Given the description of an element on the screen output the (x, y) to click on. 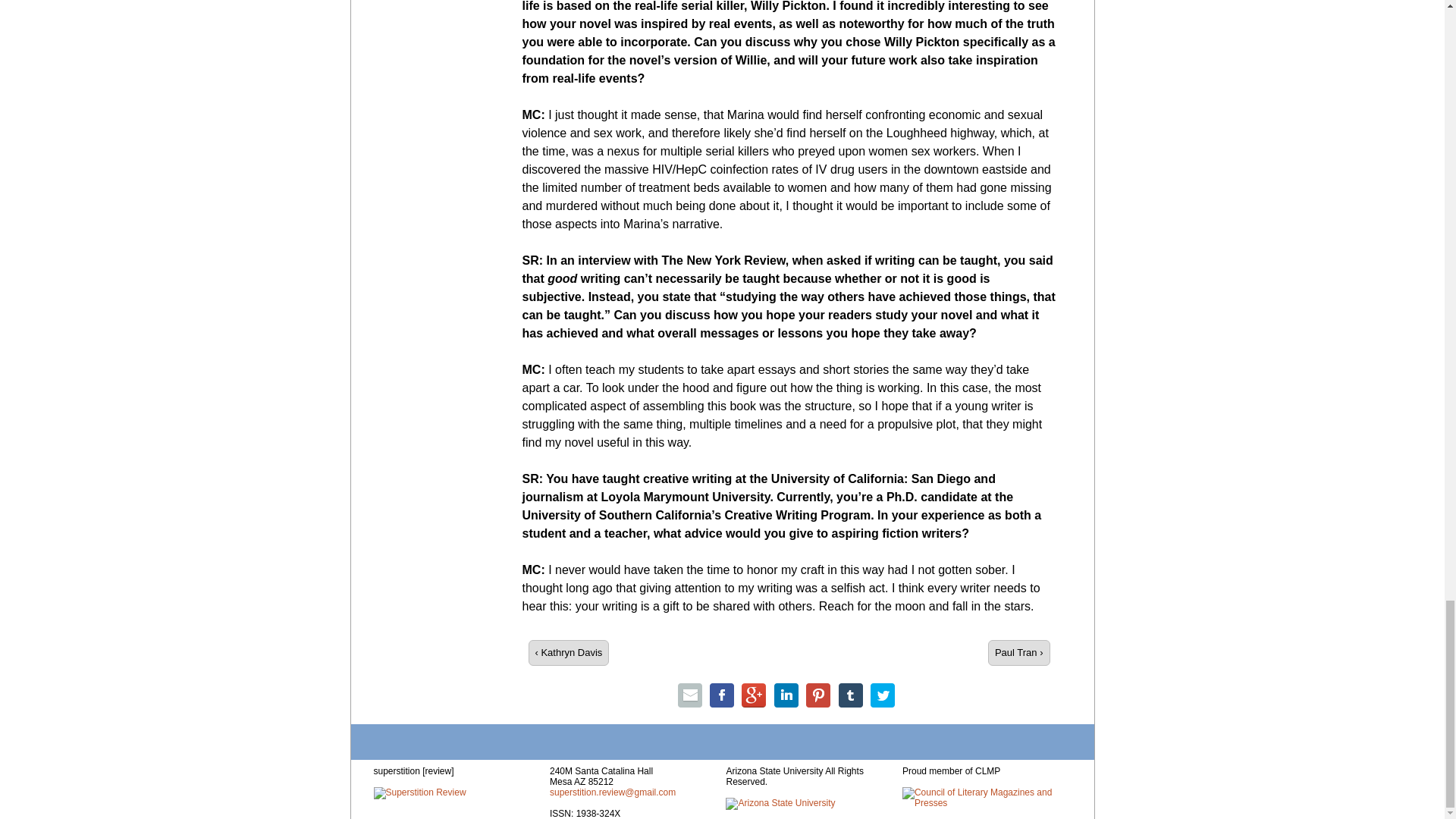
Arizona State University (779, 803)
Go to previous page (567, 652)
Superstition Review (418, 793)
Go to next page (1018, 652)
